Given the description of an element on the screen output the (x, y) to click on. 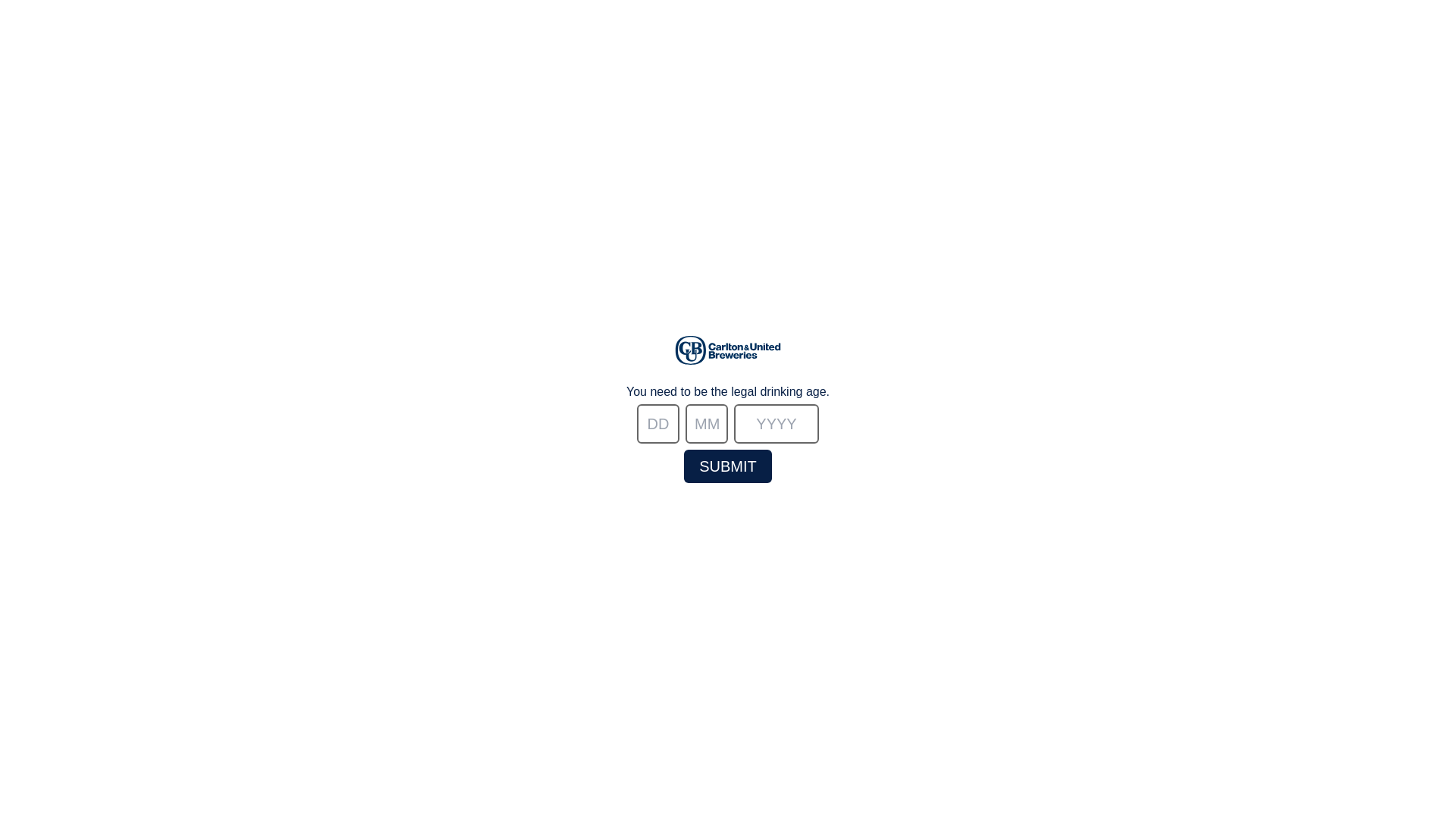
submit Element type: text (727, 466)
